Given the description of an element on the screen output the (x, y) to click on. 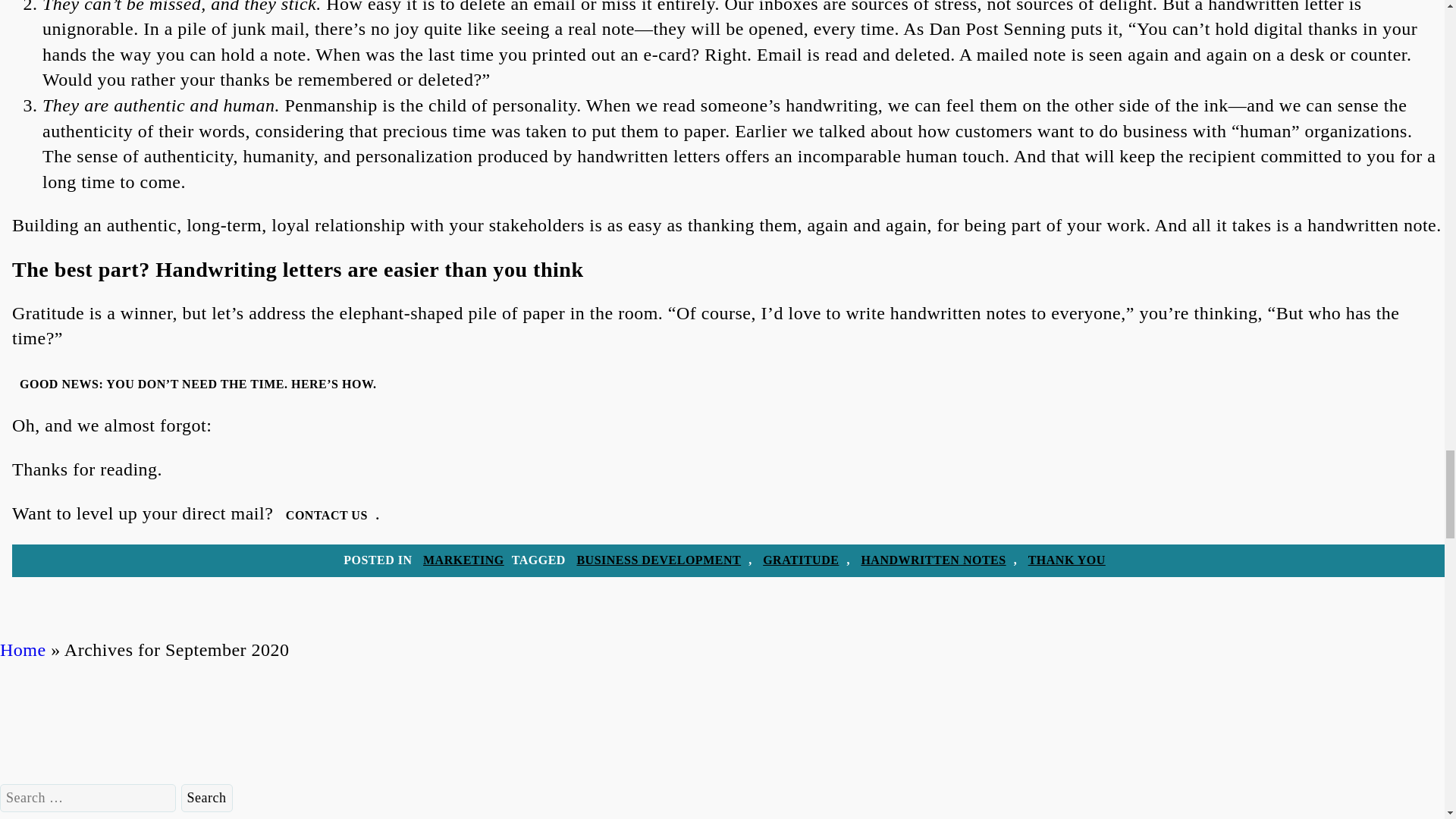
Search (206, 797)
Search (206, 797)
